Given the description of an element on the screen output the (x, y) to click on. 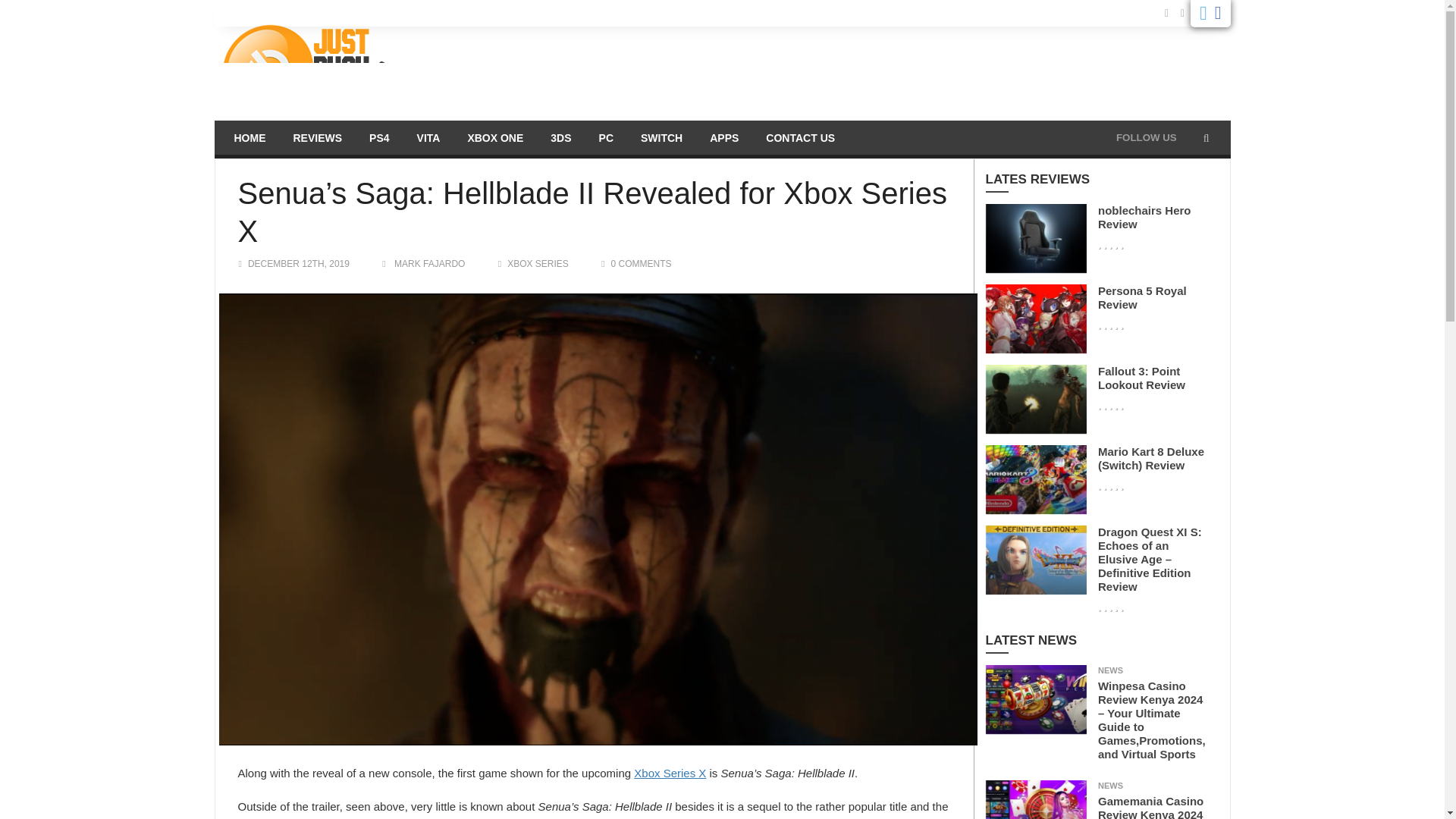
gorgeous (1110, 244)
gorgeous (1110, 325)
View all posts in Xbox Series (537, 263)
